Given the description of an element on the screen output the (x, y) to click on. 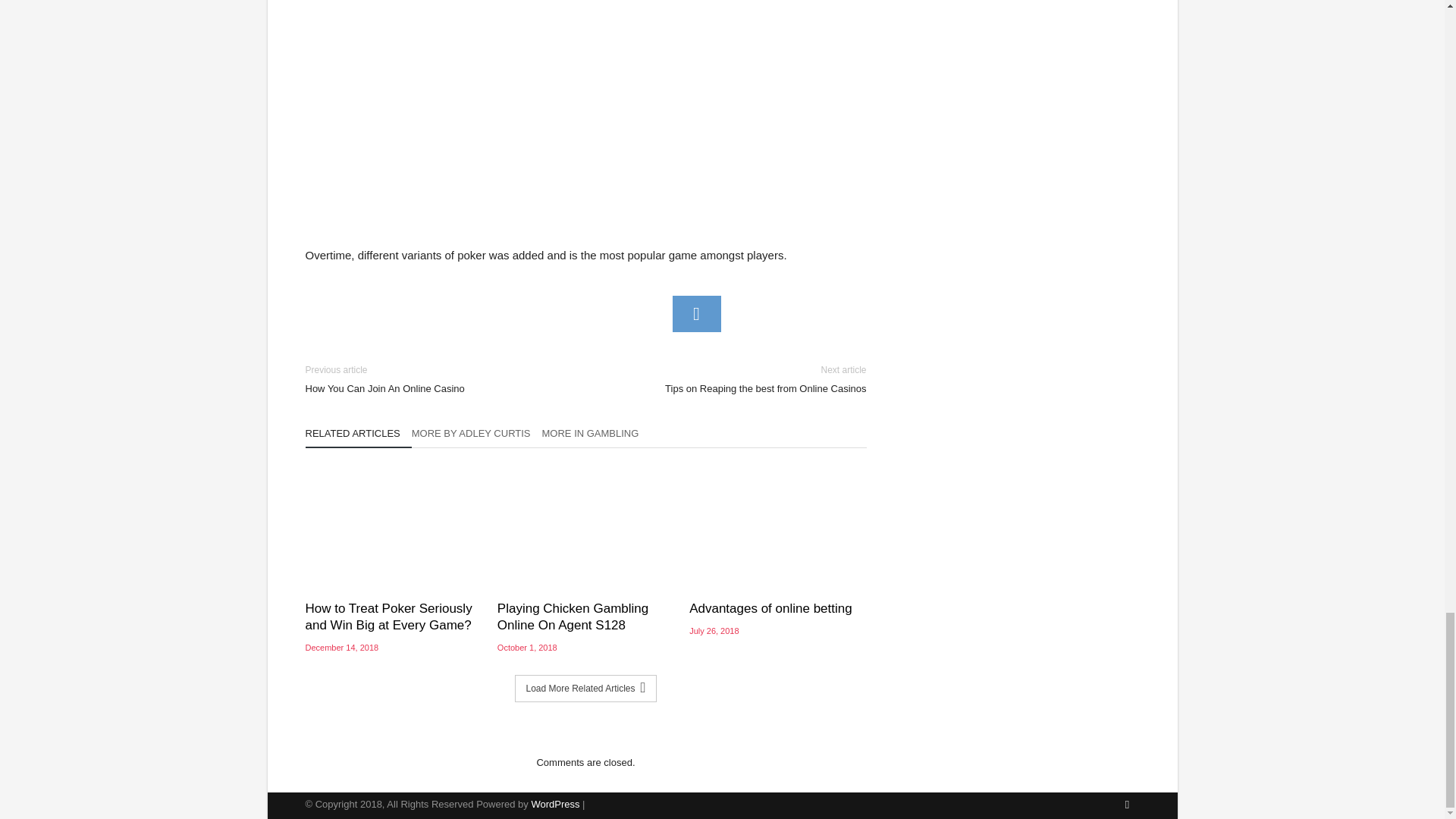
Share on Reddit (737, 379)
MORE BY ADLEY CURTIS (695, 313)
RELATED ARTICLES (476, 436)
MORE IN GAMBLING (433, 379)
How to Treat Poker Seriously and Win Big at Every Game? (357, 436)
reddit (595, 436)
